Given the description of an element on the screen output the (x, y) to click on. 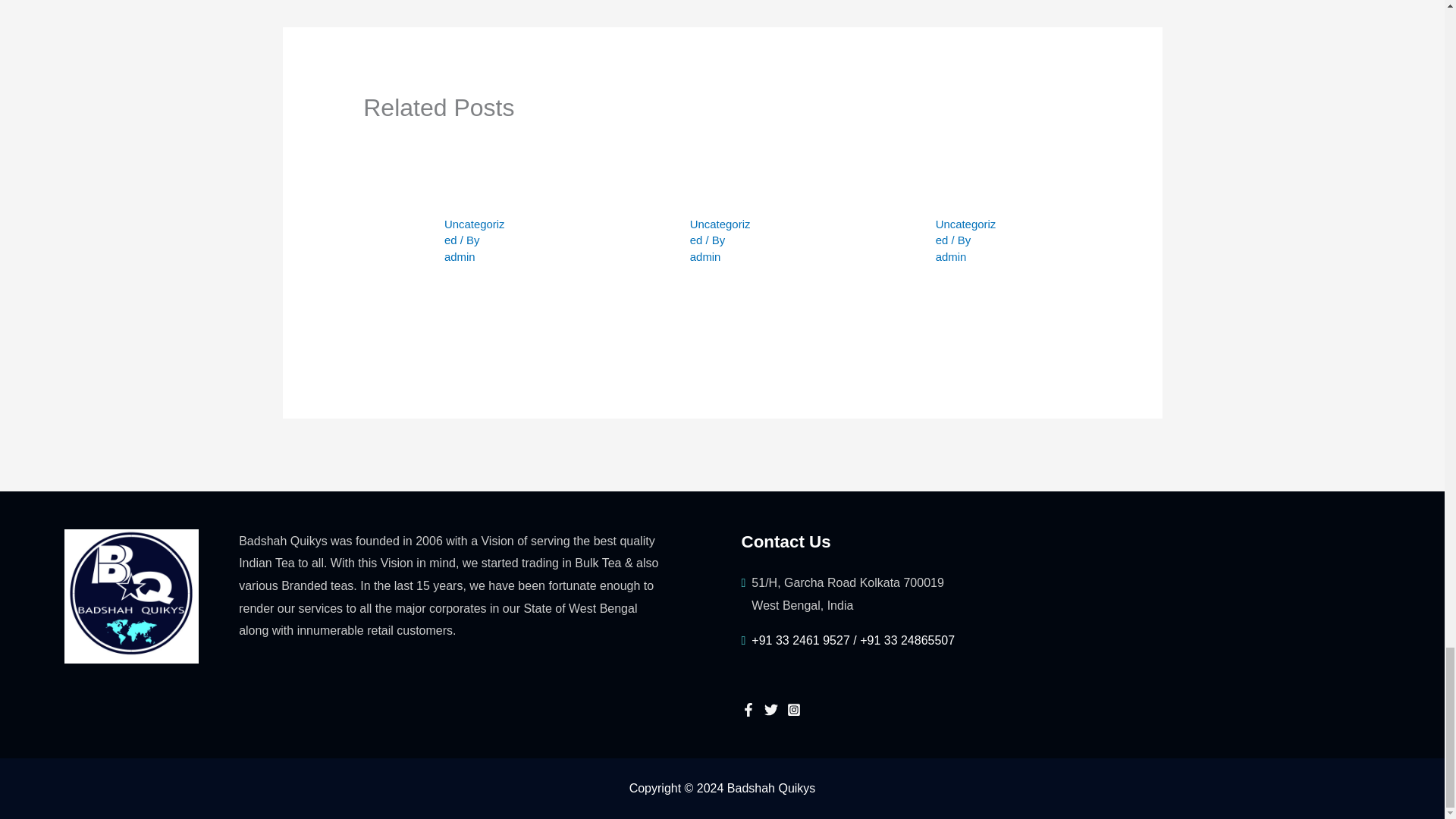
admin (951, 256)
Uncategorized (965, 232)
View all posts by admin (951, 256)
Uncategorized (720, 232)
View all posts by admin (460, 256)
admin (460, 256)
View all posts by admin (705, 256)
admin (705, 256)
Uncategorized (474, 232)
